Given the description of an element on the screen output the (x, y) to click on. 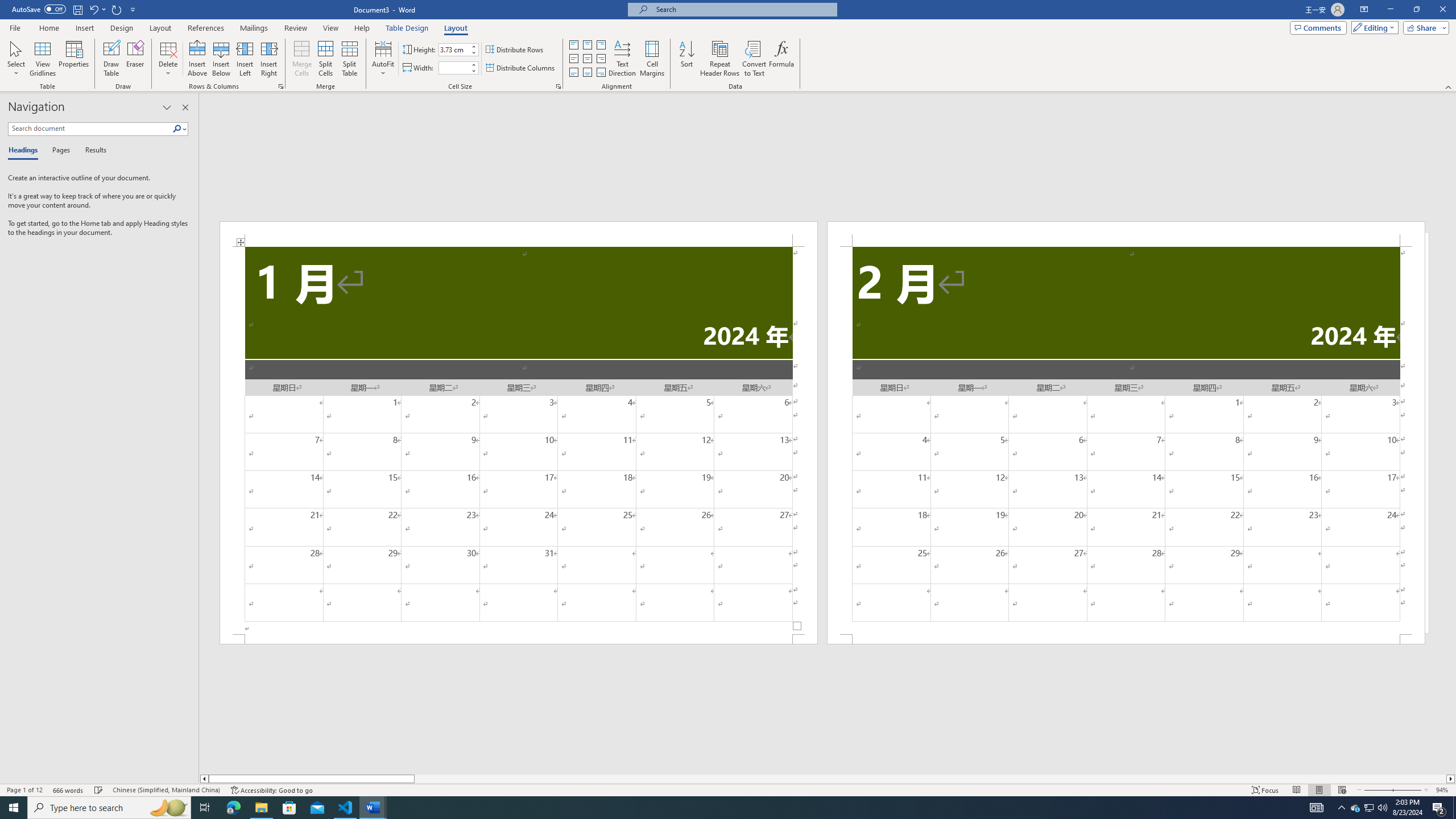
Align Bottom Center (587, 72)
Table Row Height (453, 49)
Align Bottom Justified (573, 72)
Repeat Doc Close (117, 9)
Distribute Columns (521, 67)
Column right (1450, 778)
Split Cells... (325, 58)
